Given the description of an element on the screen output the (x, y) to click on. 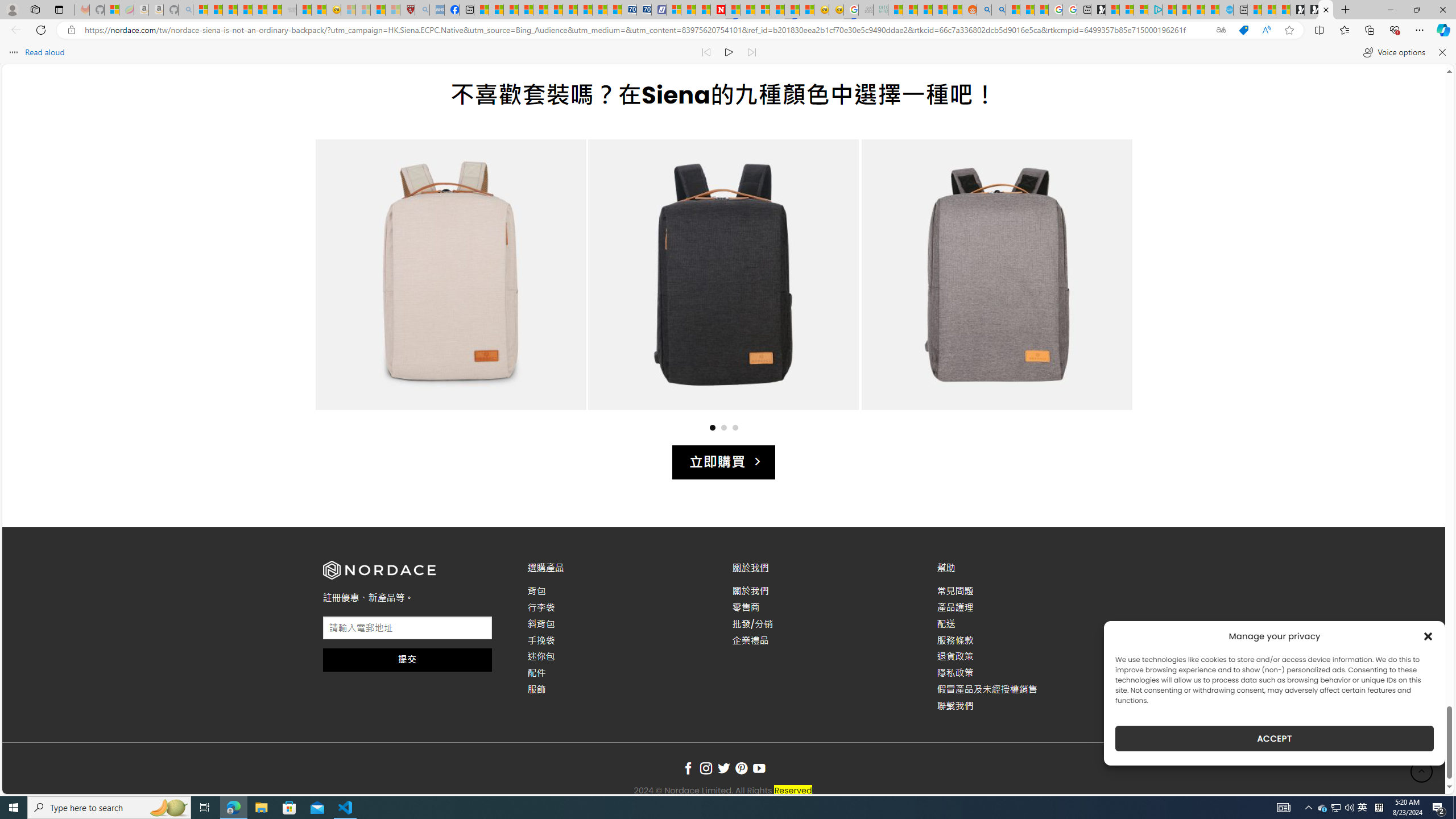
Voice options (1393, 52)
Page dot 3 (735, 427)
Read previous paragraph (705, 52)
Home | Sky Blue Bikes - Sky Blue Bikes (1225, 9)
